Given the description of an element on the screen output the (x, y) to click on. 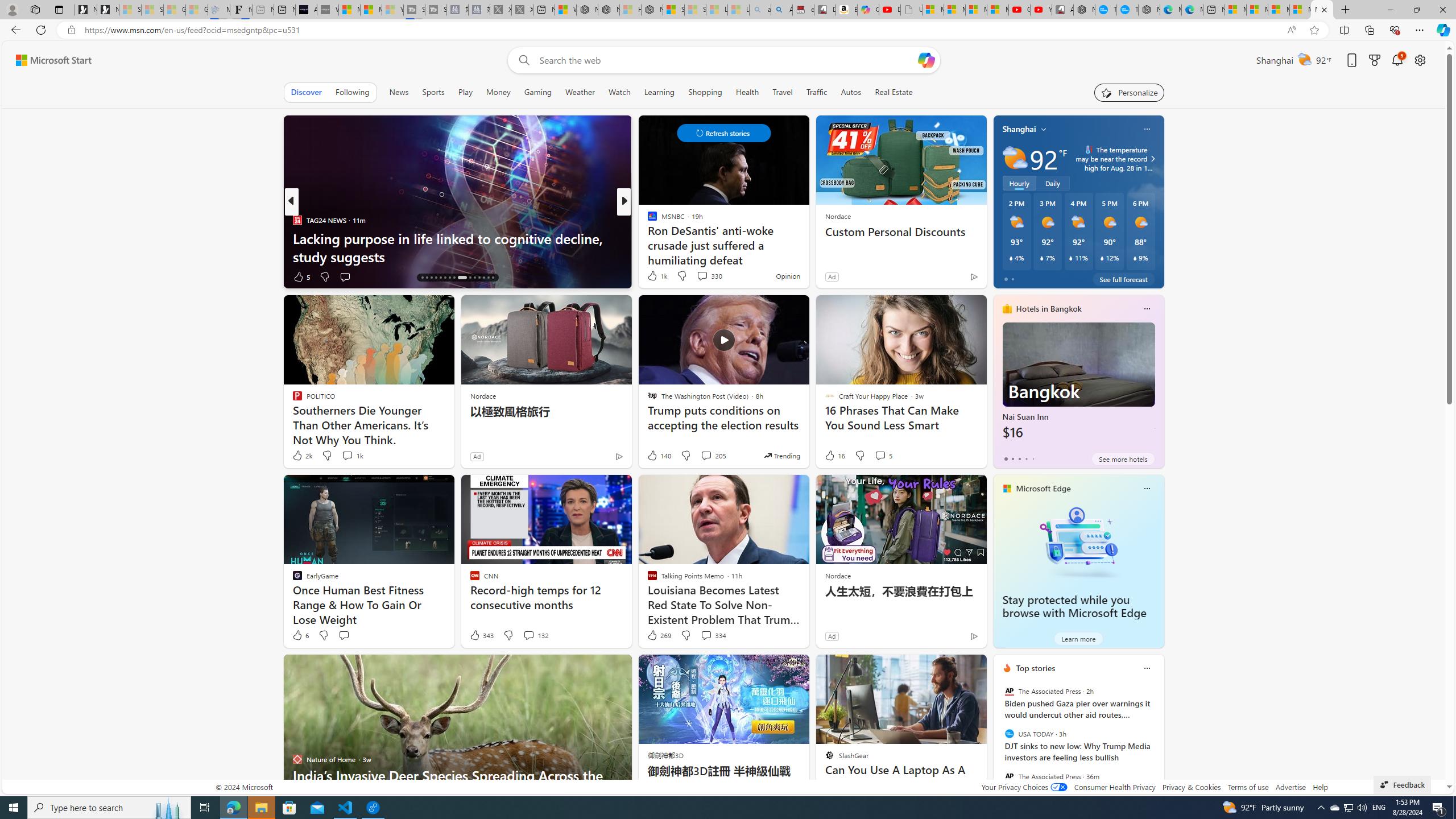
YouTube Kids - An App Created for Kids to Explore Content (1041, 9)
AutomationID: tab-23 (454, 277)
44 Like (652, 276)
hotels-header-icon (1006, 308)
AutomationID: tab-30 (492, 277)
View comments 6 Comment (6, 276)
